Given the description of an element on the screen output the (x, y) to click on. 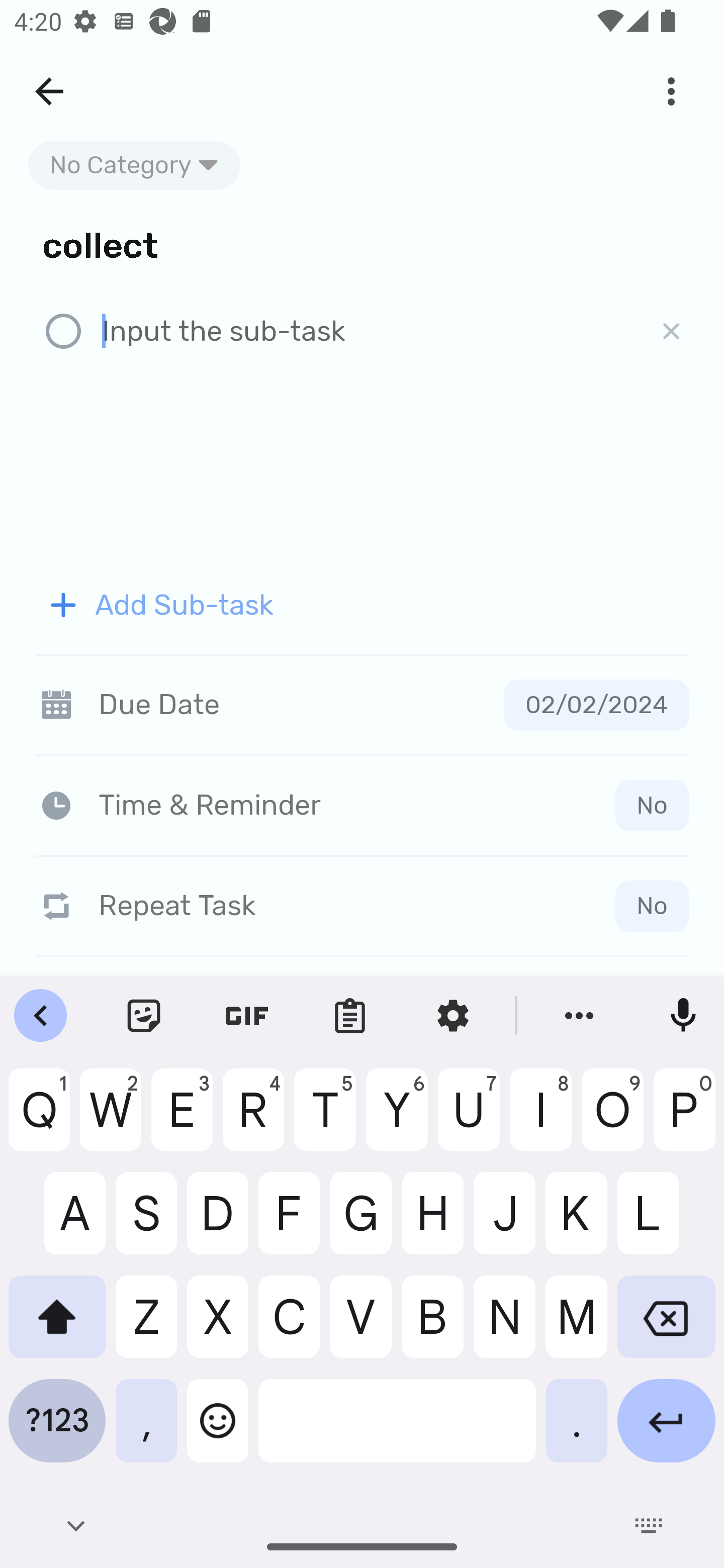
No Category (134, 165)
collect (362, 244)
Input the sub-task (366, 331)
Add Sub-task (362, 604)
Due Date 02/02/2024 (362, 704)
Time & Reminder No (365, 804)
Repeat Task No (362, 905)
